Given the description of an element on the screen output the (x, y) to click on. 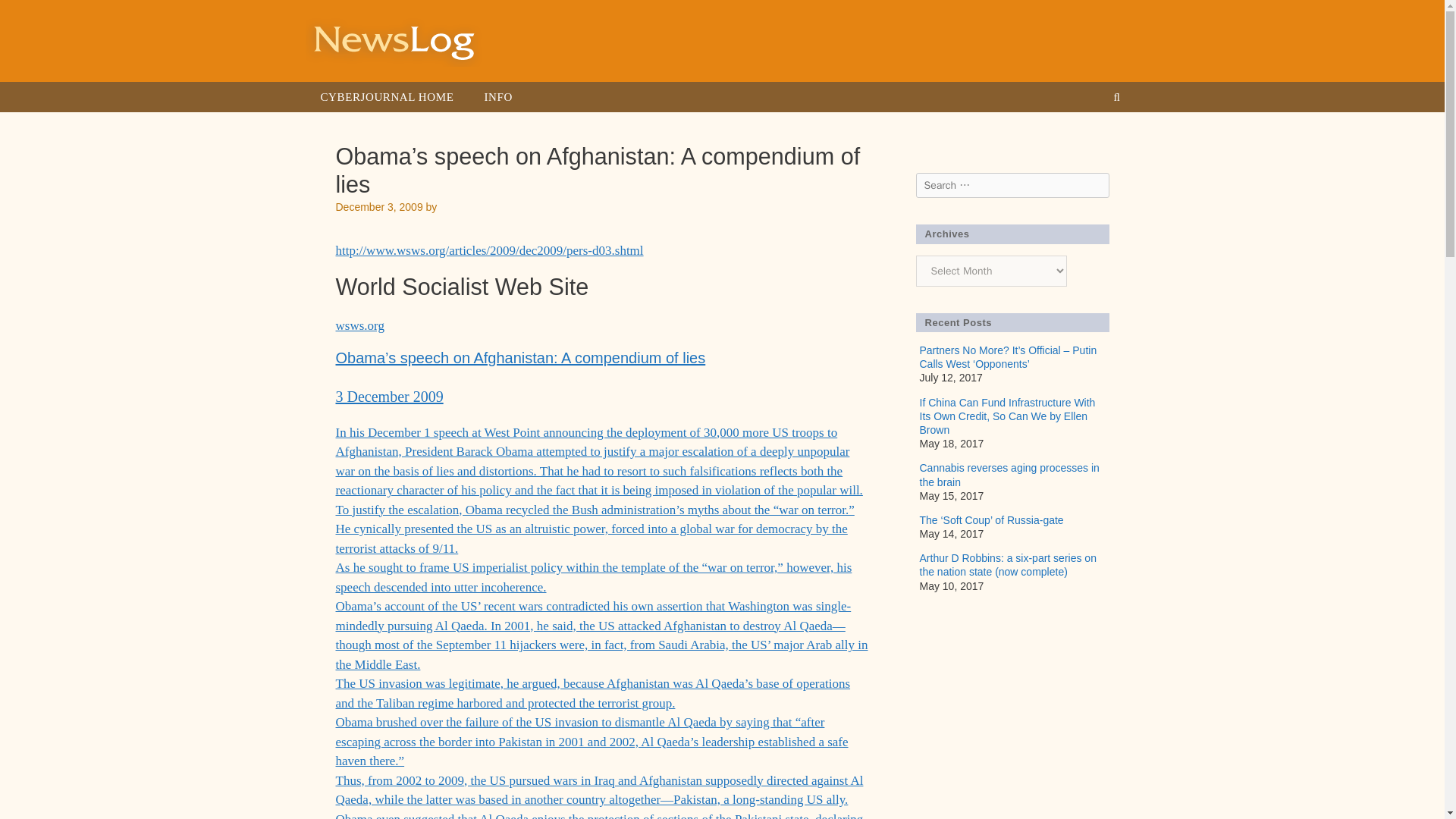
Cannabis reverses aging processes in the brain (1008, 474)
INFO (497, 96)
CYBERJOURNAL HOME (386, 96)
wsws.org (359, 325)
Search (32, 16)
Search for: (1012, 185)
